Given the description of an element on the screen output the (x, y) to click on. 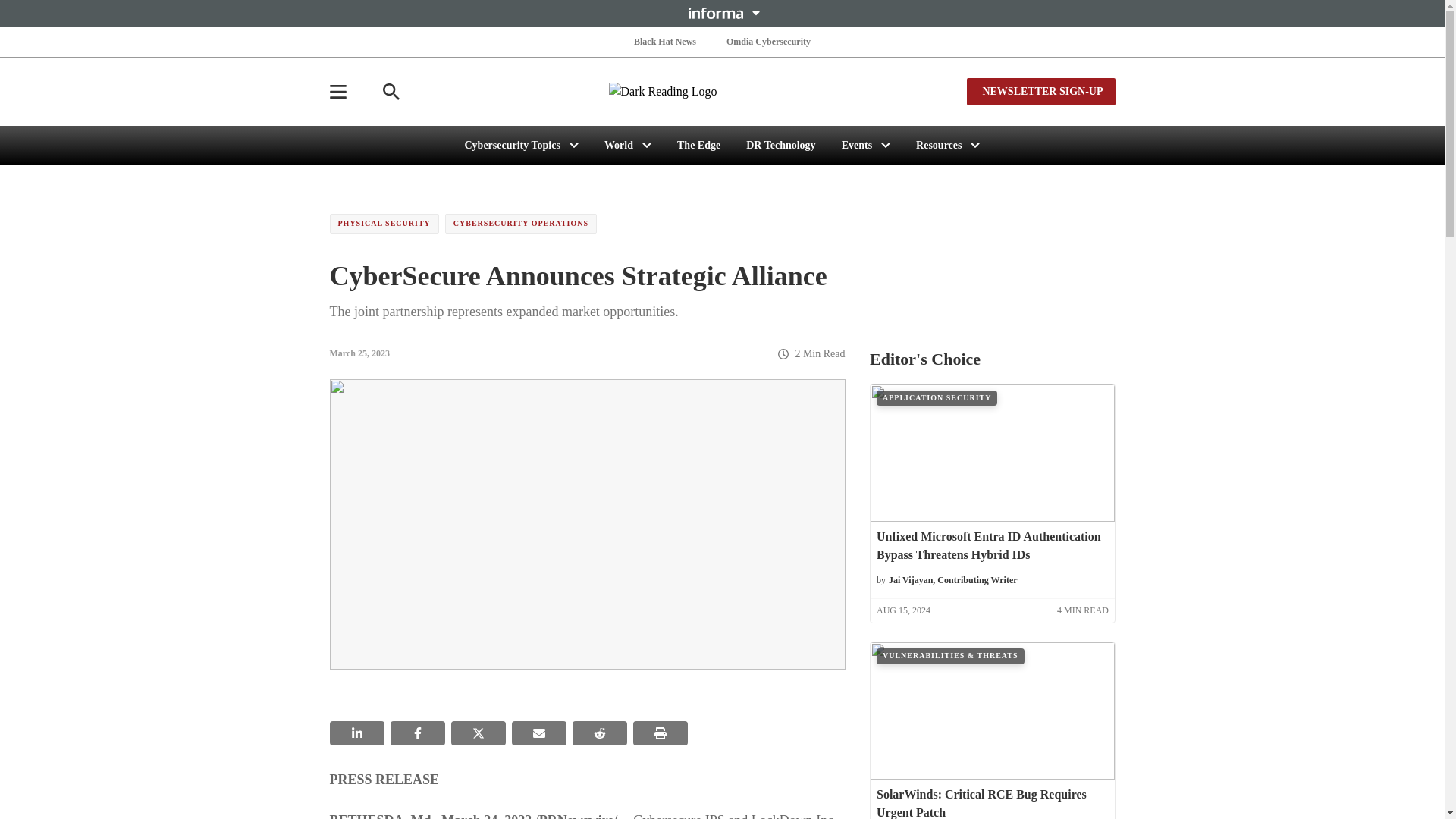
NEWSLETTER SIGN-UP (1040, 90)
Dark Reading Logo (721, 91)
Omdia Cybersecurity (768, 41)
Black Hat News (664, 41)
